Given the description of an element on the screen output the (x, y) to click on. 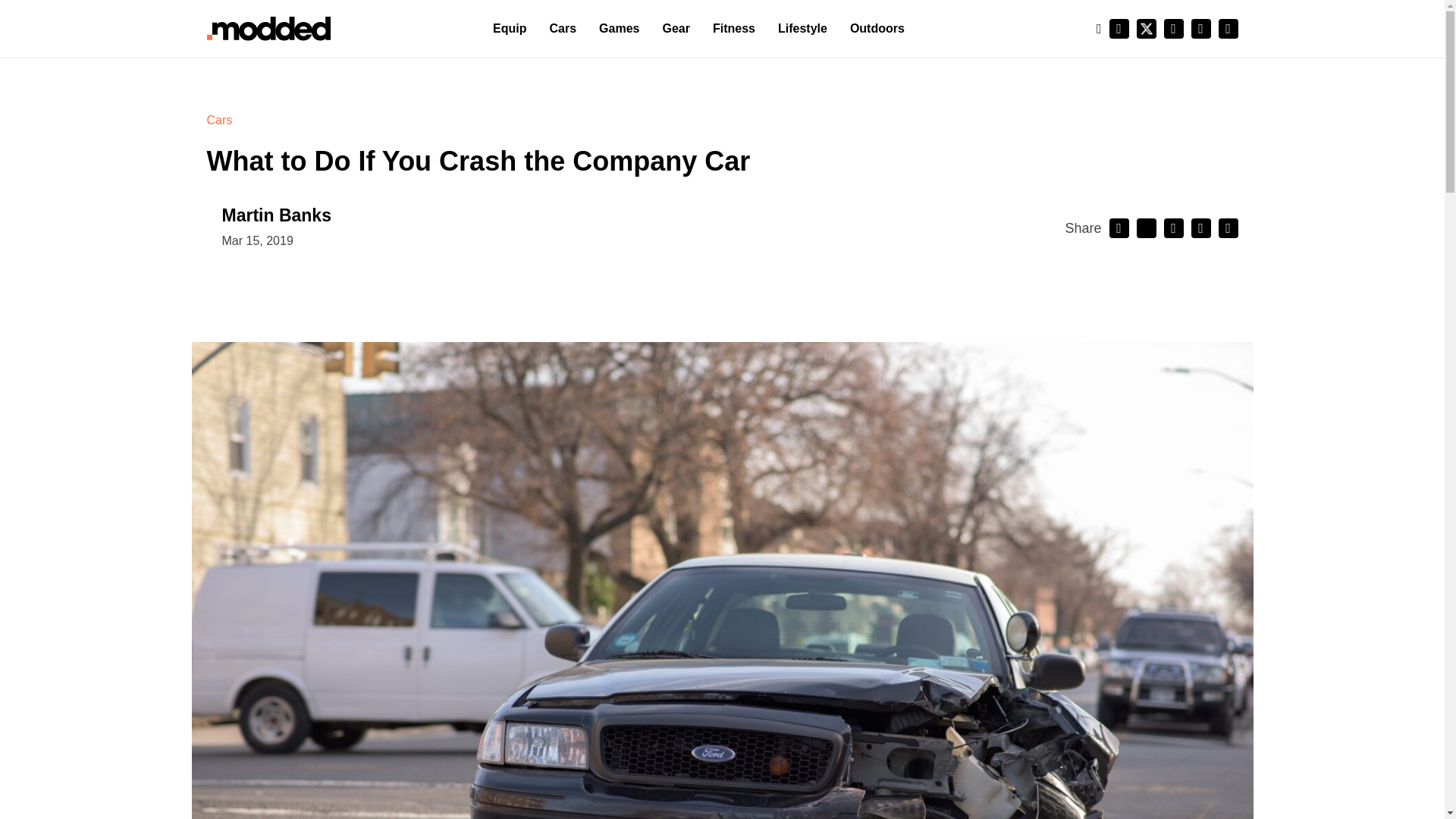
Outdoors (877, 28)
x-twitter-white (1145, 28)
Martin Banks (275, 215)
Cars (218, 119)
